Given the description of an element on the screen output the (x, y) to click on. 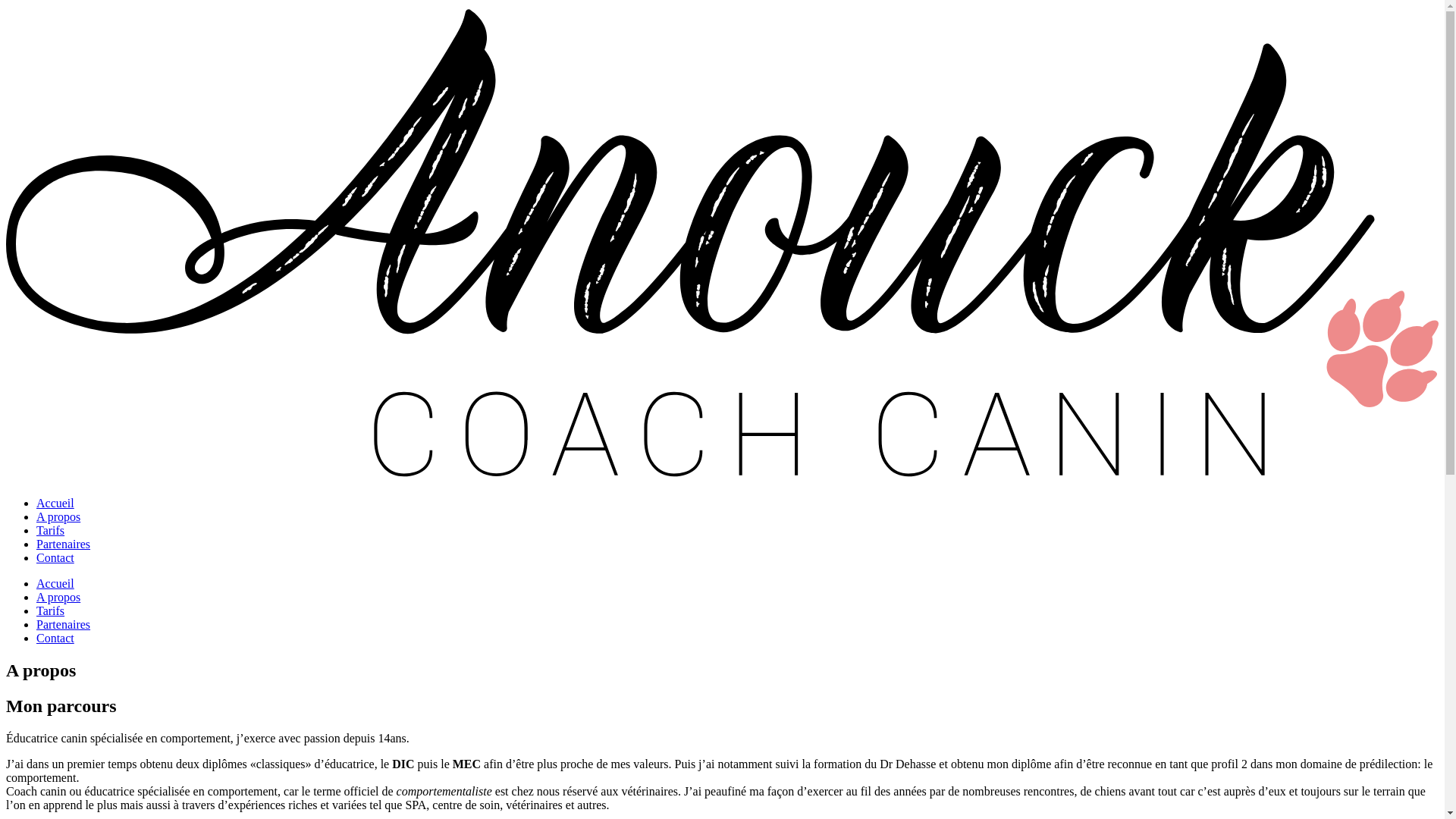
Tarifs Element type: text (50, 530)
A propos Element type: text (58, 516)
Contact Element type: text (55, 557)
Tarifs Element type: text (50, 610)
A propos Element type: text (58, 596)
Accueil Element type: text (55, 502)
Contact Element type: text (55, 637)
Partenaires Element type: text (63, 624)
Accueil Element type: text (55, 583)
Partenaires Element type: text (63, 543)
